Given the description of an element on the screen output the (x, y) to click on. 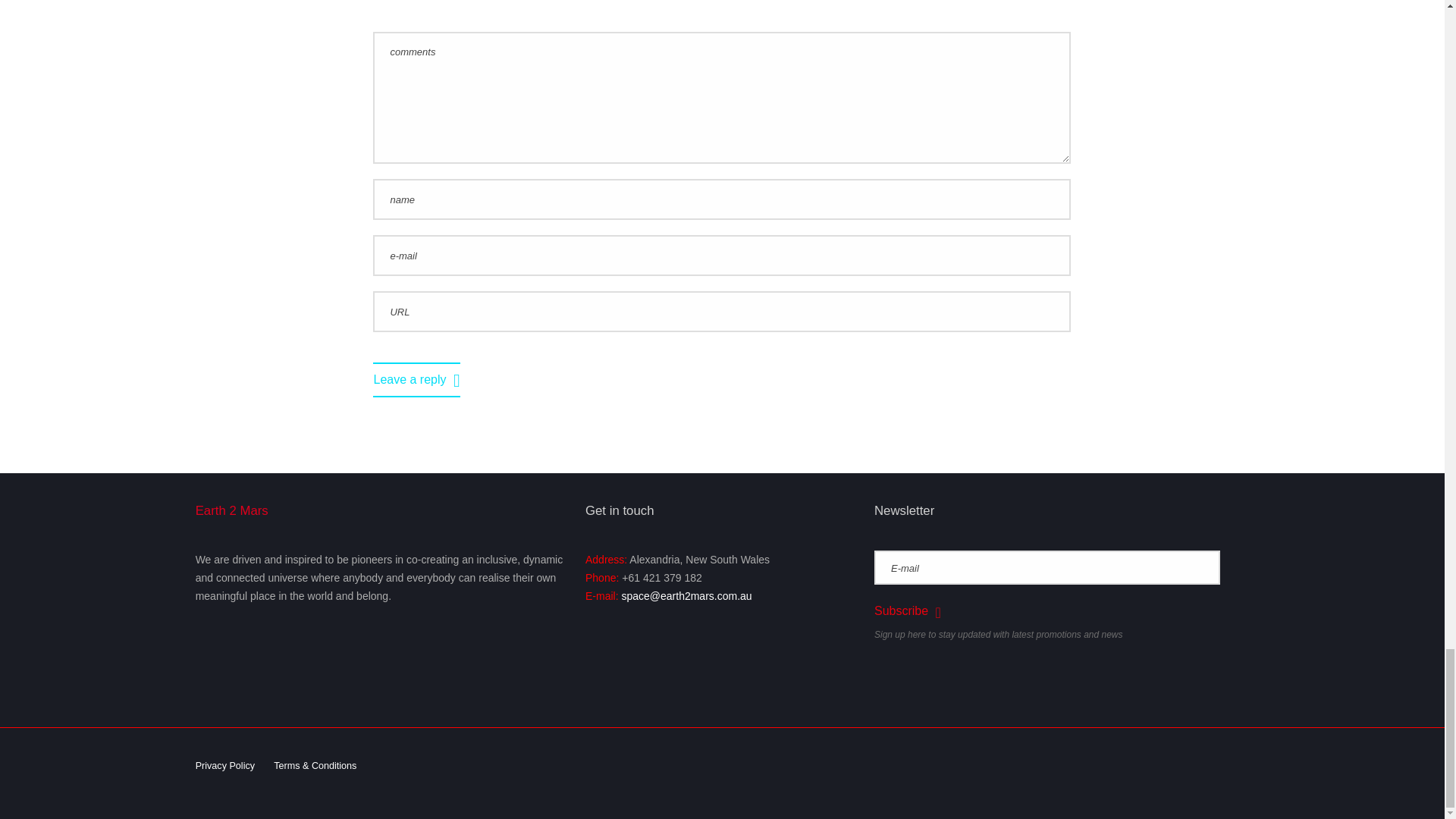
Privacy Policy (224, 765)
Leave a reply (416, 380)
Subscribe (907, 610)
